Given the description of an element on the screen output the (x, y) to click on. 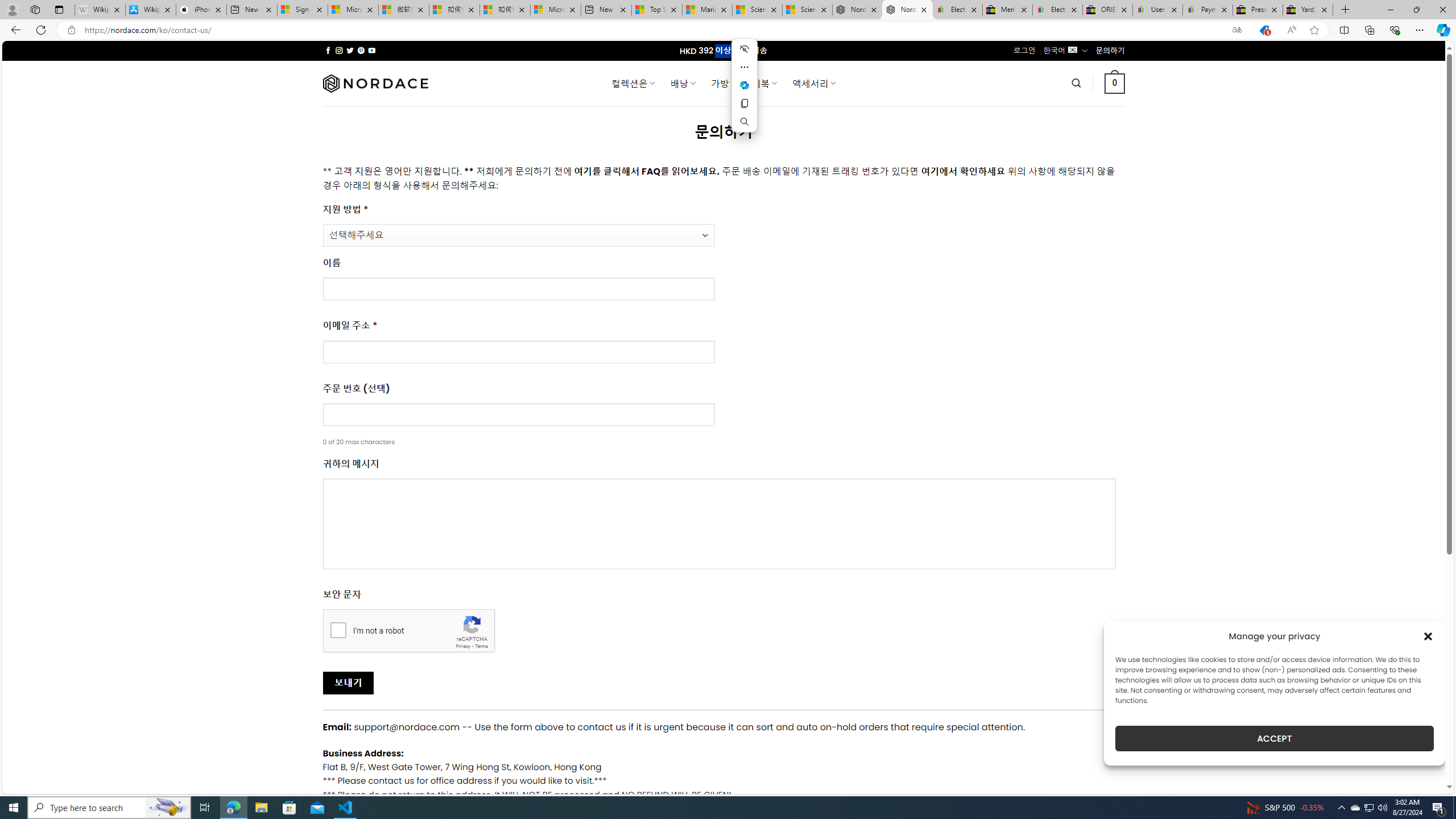
Follow on YouTube (371, 50)
App bar (728, 29)
Follow on Instagram (338, 50)
Browser essentials (1394, 29)
  0   (1115, 83)
Address and search bar (653, 29)
Hide menu (744, 49)
Nordace (374, 83)
